Given the description of an element on the screen output the (x, y) to click on. 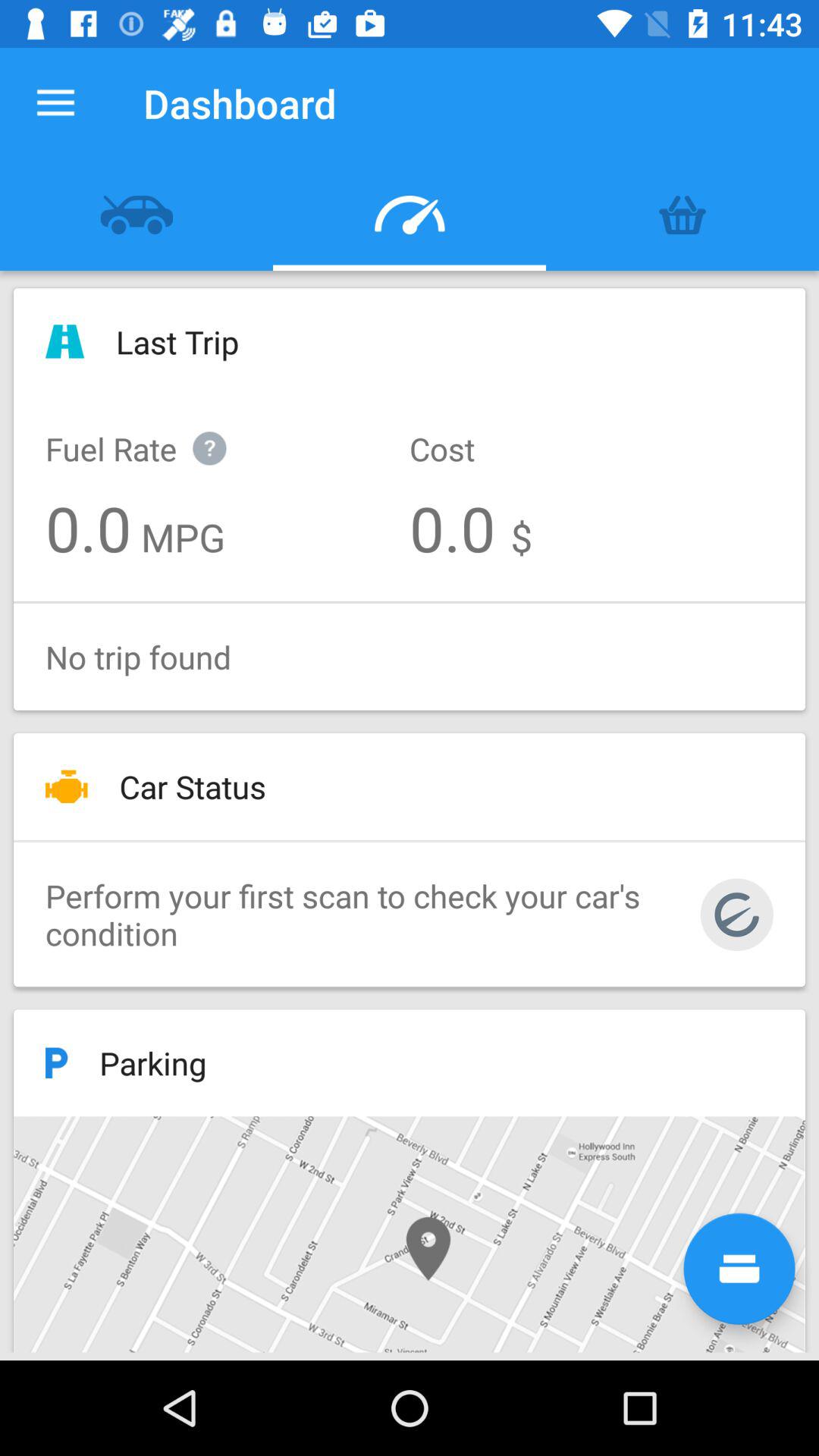
turn on icon above 0.0 mpg item (151, 432)
